Given the description of an element on the screen output the (x, y) to click on. 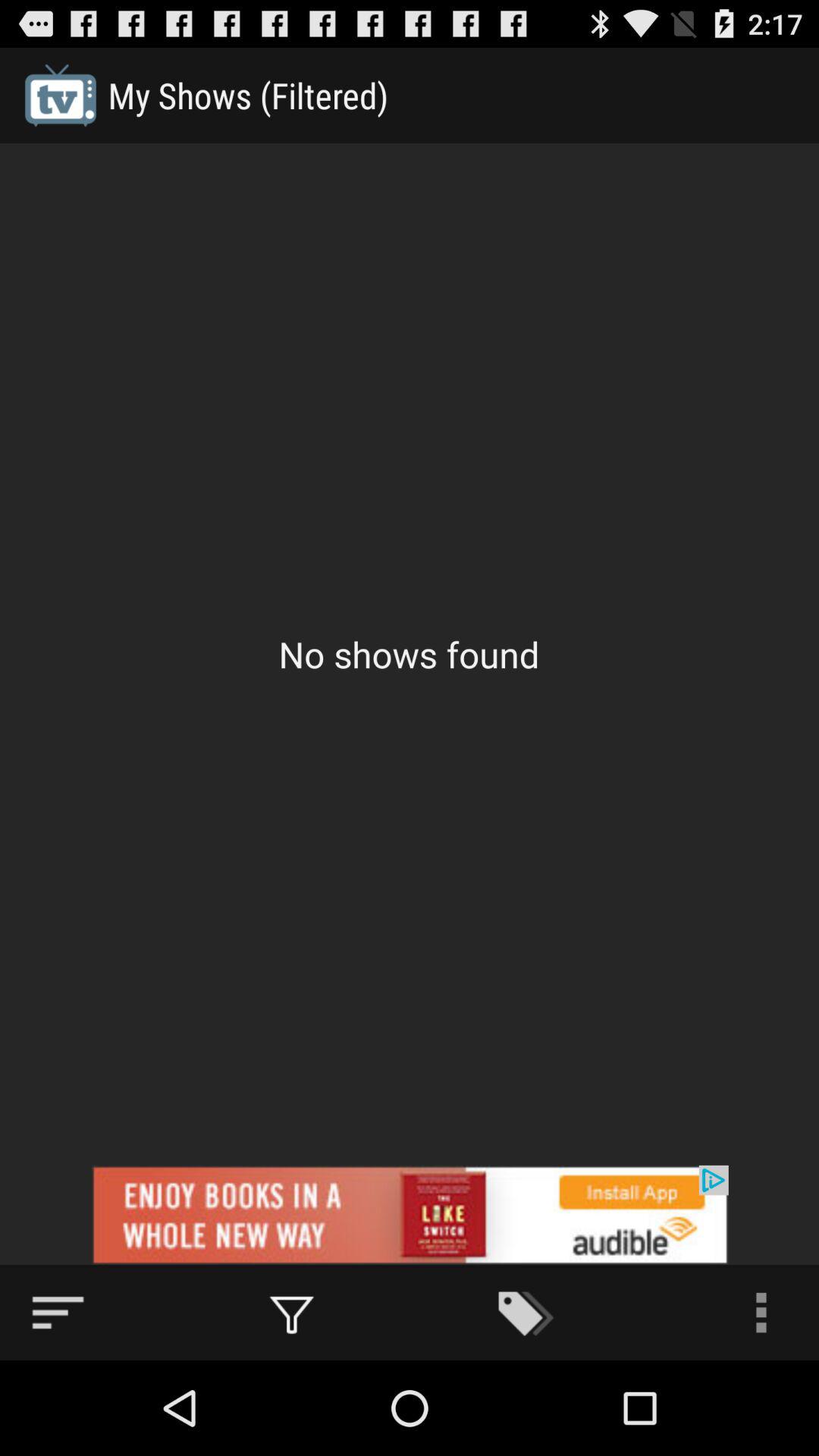
advertisement area (409, 1214)
